Given the description of an element on the screen output the (x, y) to click on. 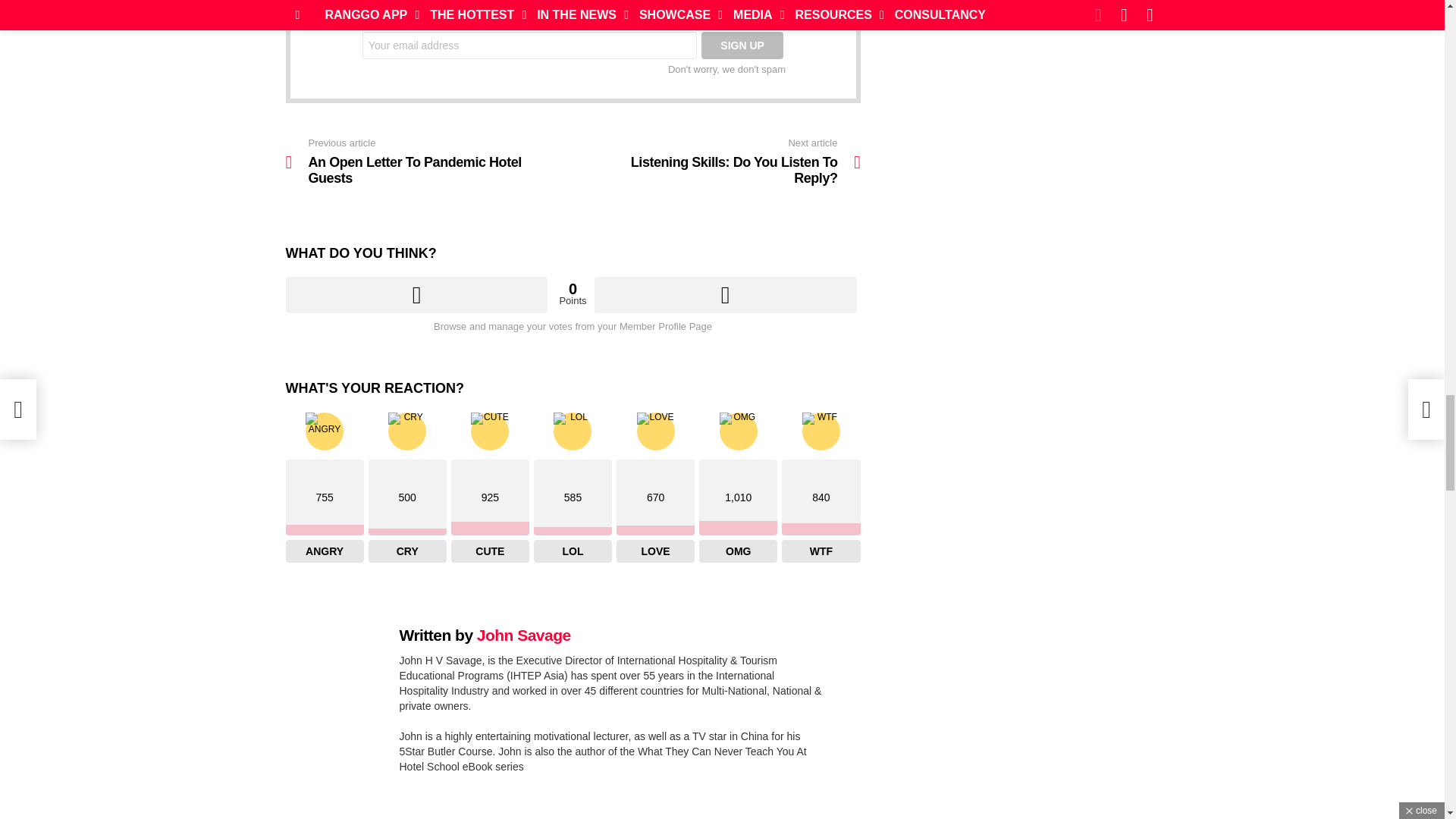
Sign up (742, 44)
